Given the description of an element on the screen output the (x, y) to click on. 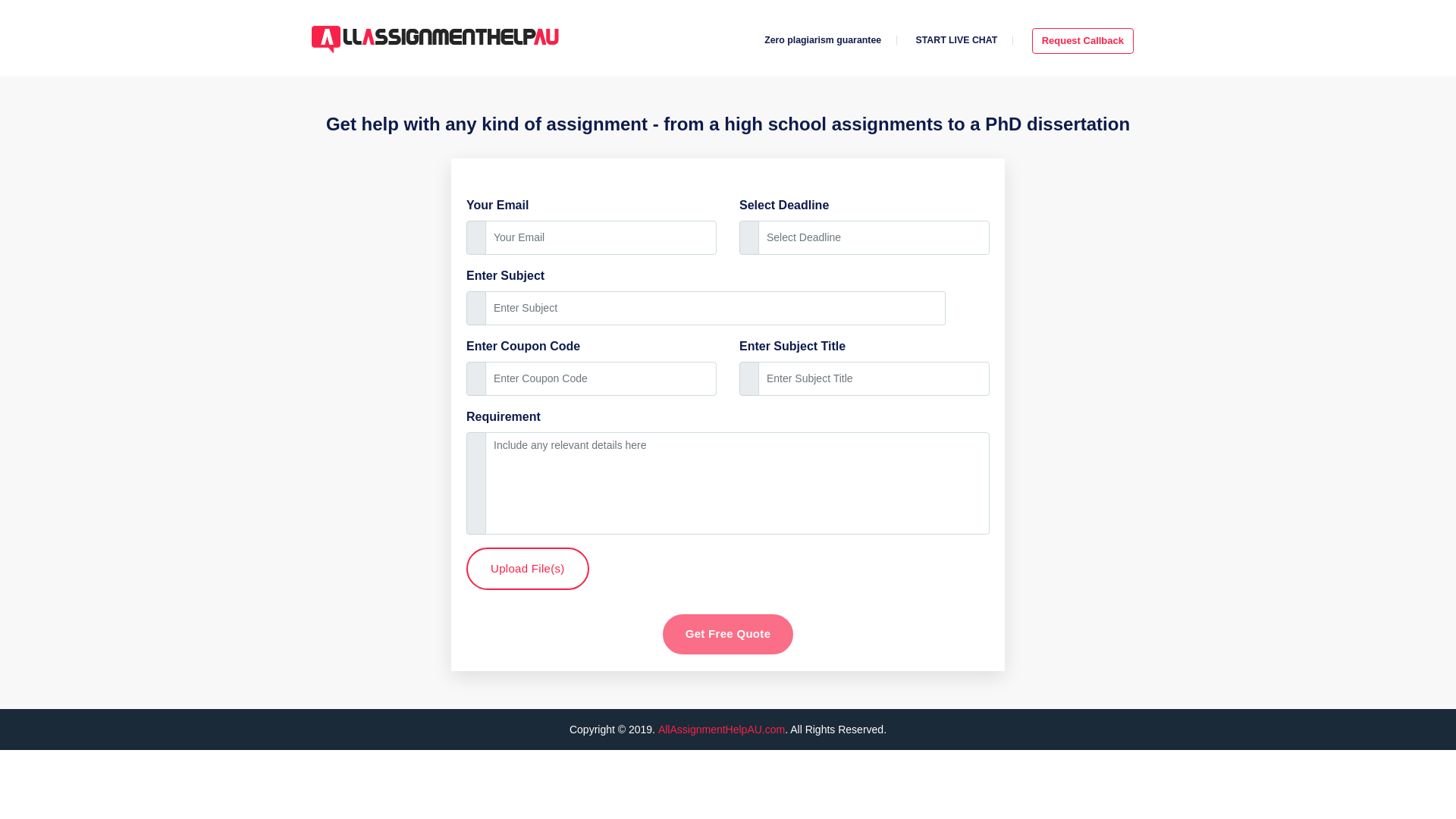
Zero plagiarism guarantee (822, 40)
Request Callback (1083, 40)
AllAssignmentHelpAU.com (721, 729)
Get Free Quote (727, 634)
START LIVE CHAT (956, 40)
